Given the description of an element on the screen output the (x, y) to click on. 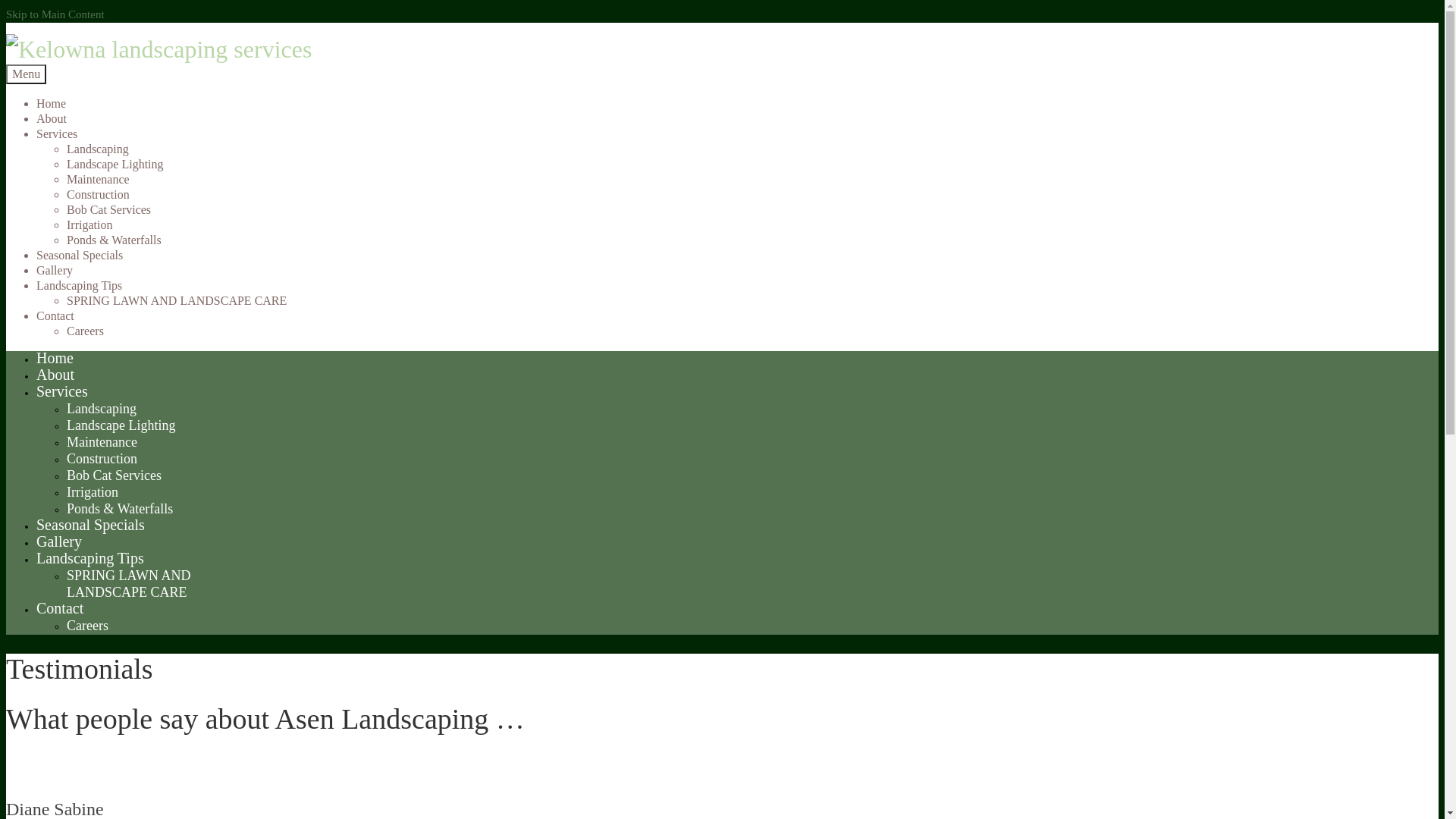
Construction Element type: text (97, 194)
Seasonal Specials Element type: text (90, 524)
Landscaping Element type: text (101, 408)
Landscaping Element type: text (97, 148)
Irrigation Element type: text (89, 224)
Ponds & Waterfalls Element type: text (119, 508)
Landscaping Tips Element type: text (90, 557)
About Element type: text (55, 374)
Maintenance Element type: text (101, 441)
Careers Element type: text (84, 330)
About Element type: text (51, 118)
Contact Element type: text (59, 607)
Menu Element type: text (26, 74)
Gallery Element type: text (58, 541)
Home Element type: text (50, 103)
Bob Cat Services Element type: text (113, 475)
SPRING LAWN AND LANDSCAPE CARE Element type: text (176, 300)
Gallery Element type: text (54, 269)
Services Element type: text (56, 133)
Landscaping Tips Element type: text (79, 285)
Skip to Main Content Element type: text (55, 14)
Ponds & Waterfalls Element type: text (113, 239)
Careers Element type: text (87, 625)
Bob Cat Services Element type: text (108, 209)
Contact Element type: text (55, 315)
Landscape Lighting Element type: text (120, 425)
Construction Element type: text (101, 458)
Services Element type: text (61, 390)
SPRING LAWN AND LANDSCAPE CARE Element type: text (128, 583)
Home Element type: text (54, 357)
Landscape Lighting Element type: text (114, 163)
Maintenance Element type: text (97, 178)
Irrigation Element type: text (92, 491)
Seasonal Specials Element type: text (79, 254)
